Given the description of an element on the screen output the (x, y) to click on. 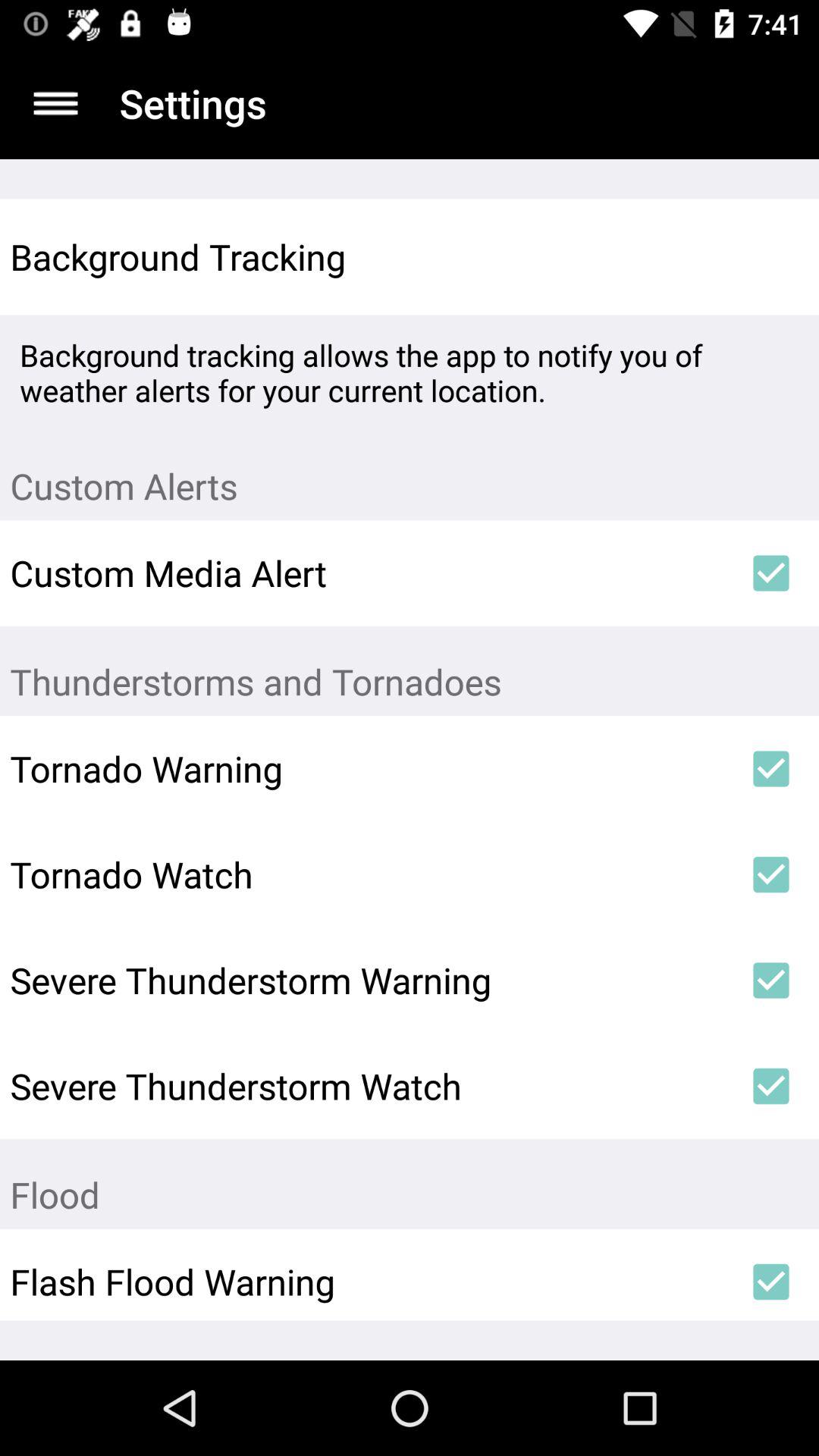
open icon to the right of the flash flood warning (771, 1281)
